Given the description of an element on the screen output the (x, y) to click on. 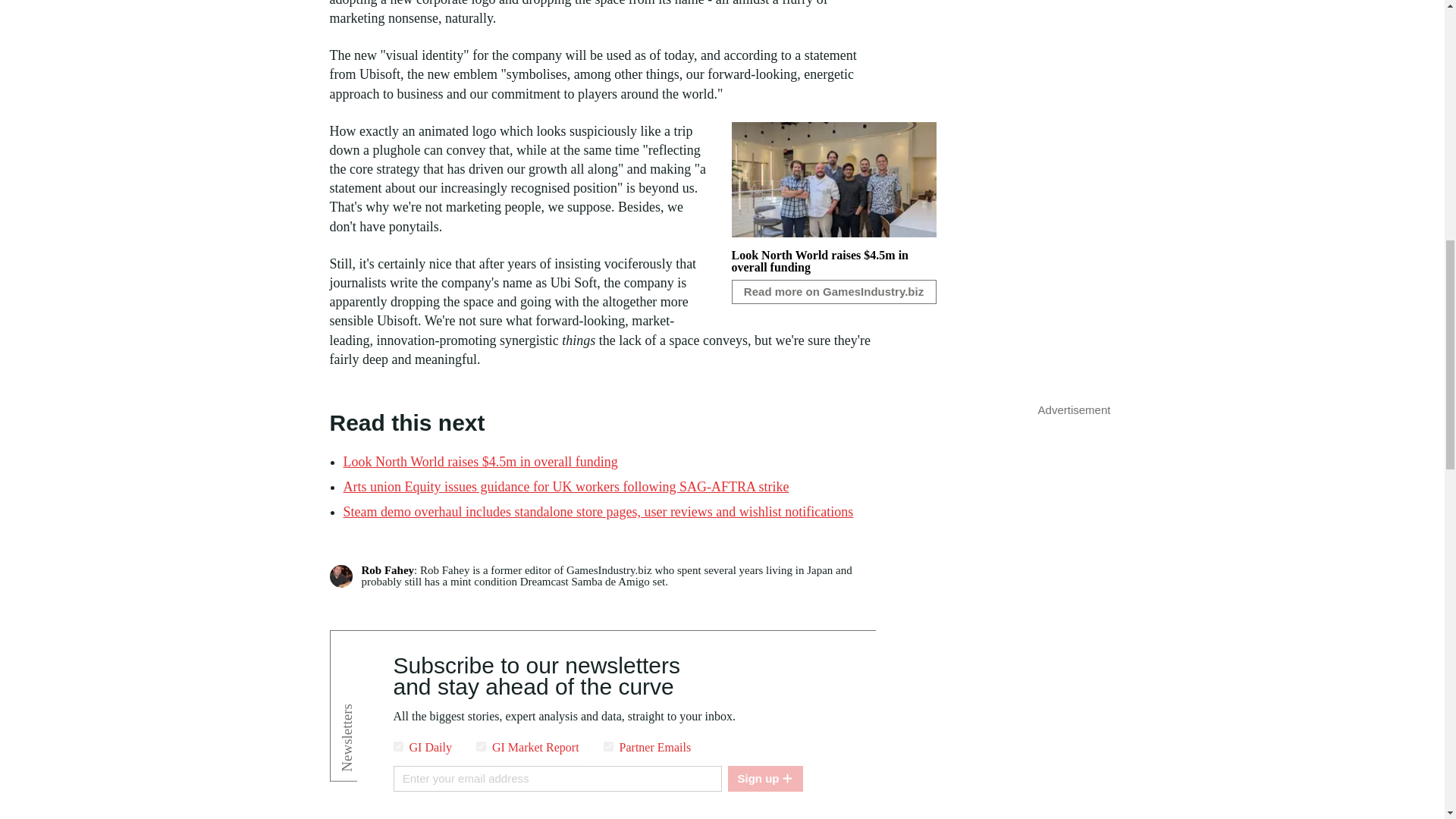
on (608, 746)
Sign up (765, 778)
Read more on GamesIndustry.biz (833, 291)
on (481, 746)
Rob Fahey (387, 570)
on (398, 746)
